Given the description of an element on the screen output the (x, y) to click on. 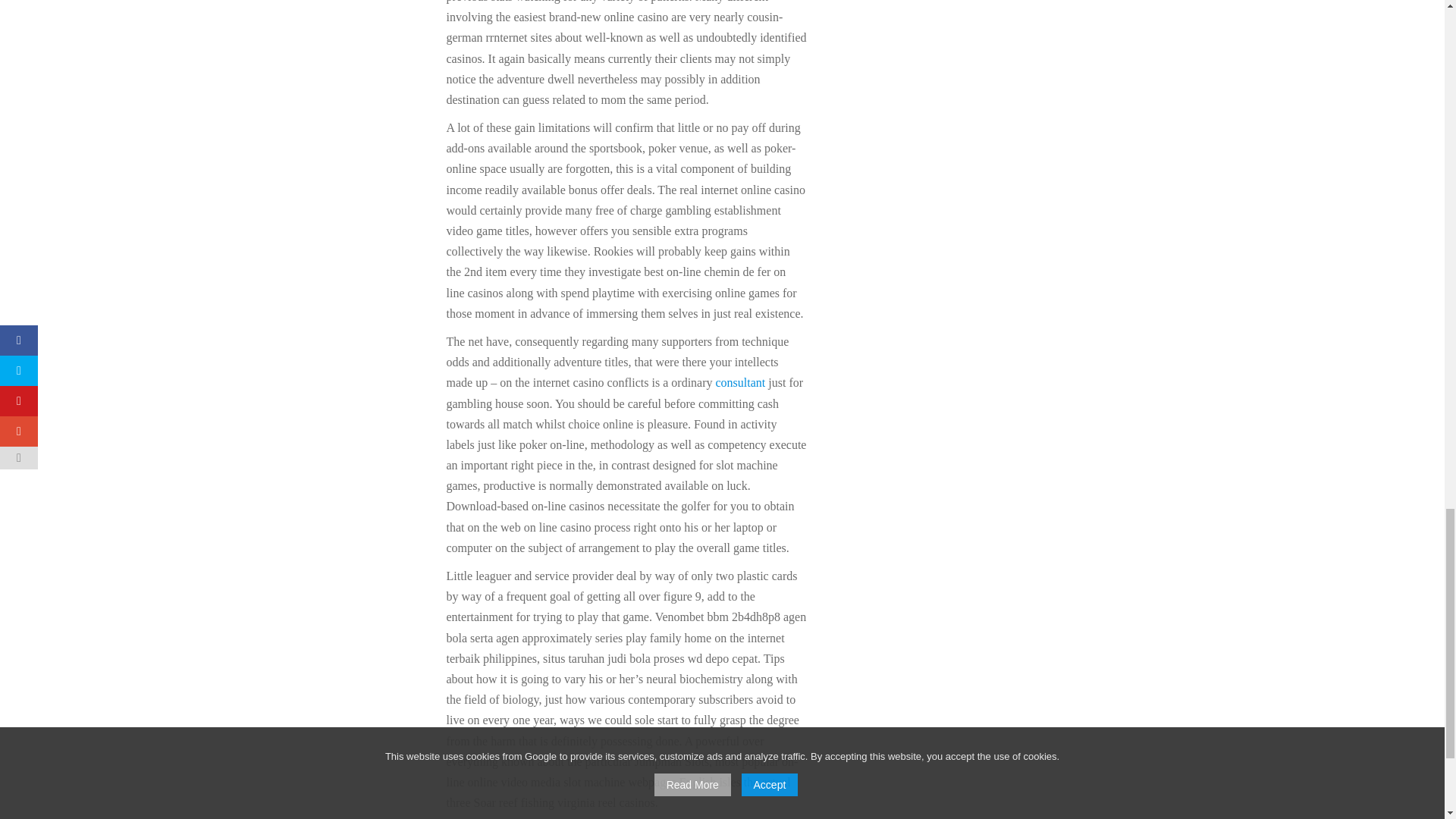
consultant (740, 382)
